Given the description of an element on the screen output the (x, y) to click on. 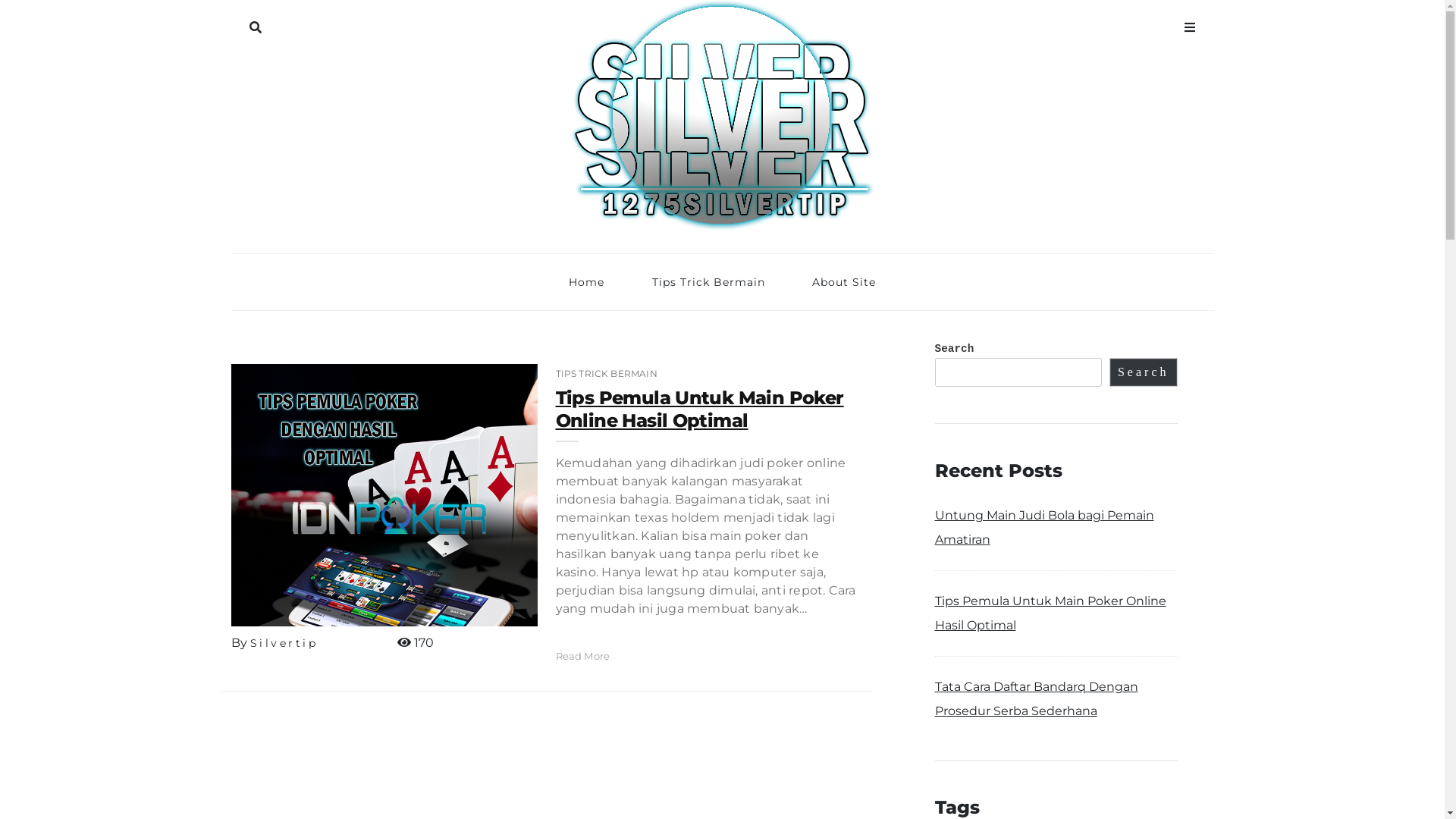
Read More Element type: text (582, 655)
Silvertip Element type: text (284, 642)
Menu Element type: text (1188, 24)
Untung Main Judi Bola bagi Pemain Amatiran Element type: text (1043, 527)
Search Element type: text (254, 24)
About Site Element type: text (844, 281)
TIPS TRICK BERMAIN Element type: text (605, 373)
Home Element type: text (586, 281)
Tips Pemula Untuk Main Poker Online Hasil Optimal Element type: text (1049, 612)
Search Element type: text (1143, 371)
Tata Cara Daftar Bandarq Dengan Prosedur Serba Sederhana Element type: text (1035, 698)
Tips Pemula Untuk Main Poker Online Hasil Optimal Element type: text (699, 408)
Tips Trick Bermain Element type: text (708, 281)
